Given the description of an element on the screen output the (x, y) to click on. 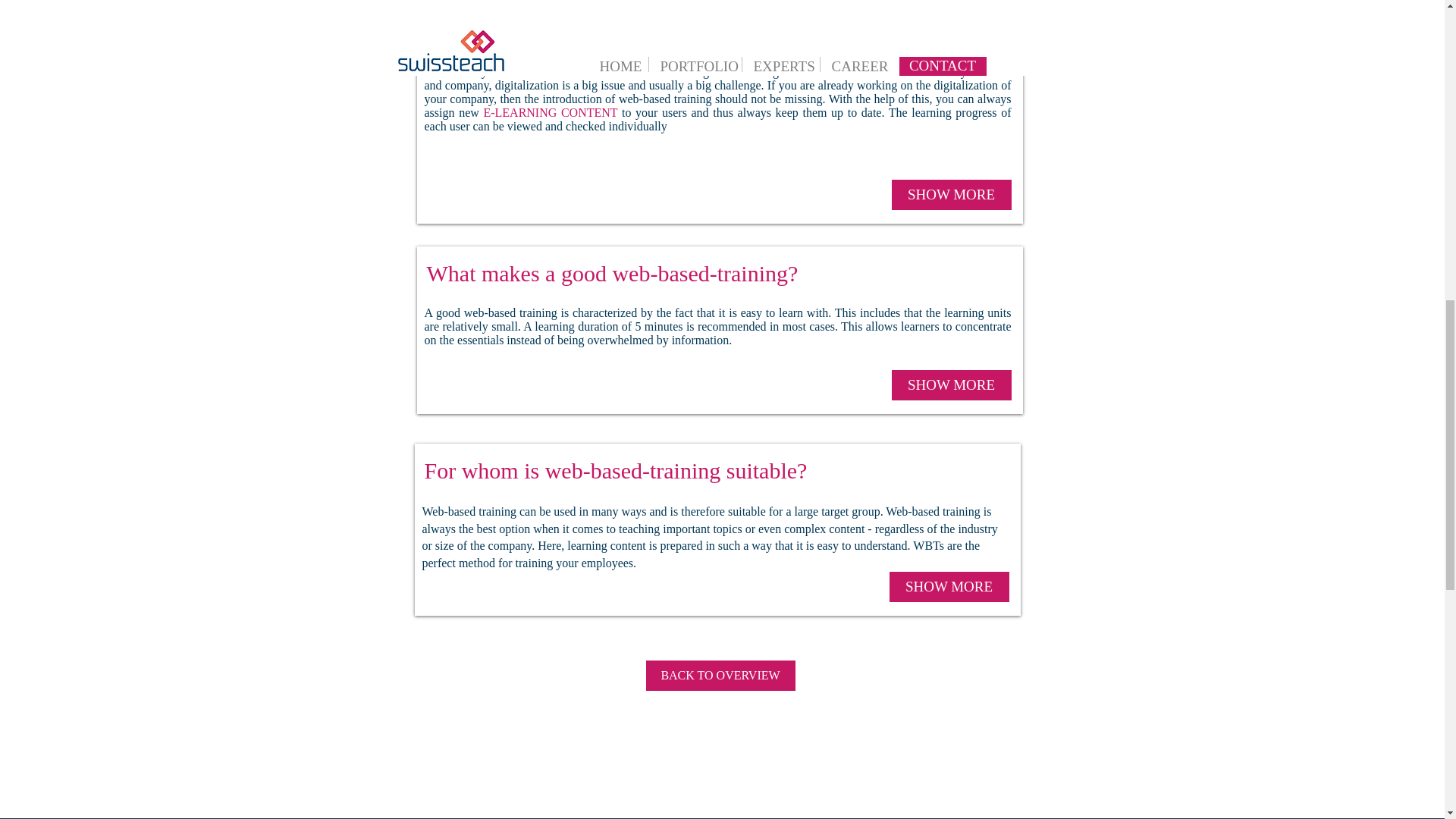
E-LEARNING CONTENT (550, 112)
SHOW MORE (951, 385)
BACK TO OVERVIEW (720, 675)
SHOW MORE (948, 586)
SHOW MORE (951, 194)
